Given the description of an element on the screen output the (x, y) to click on. 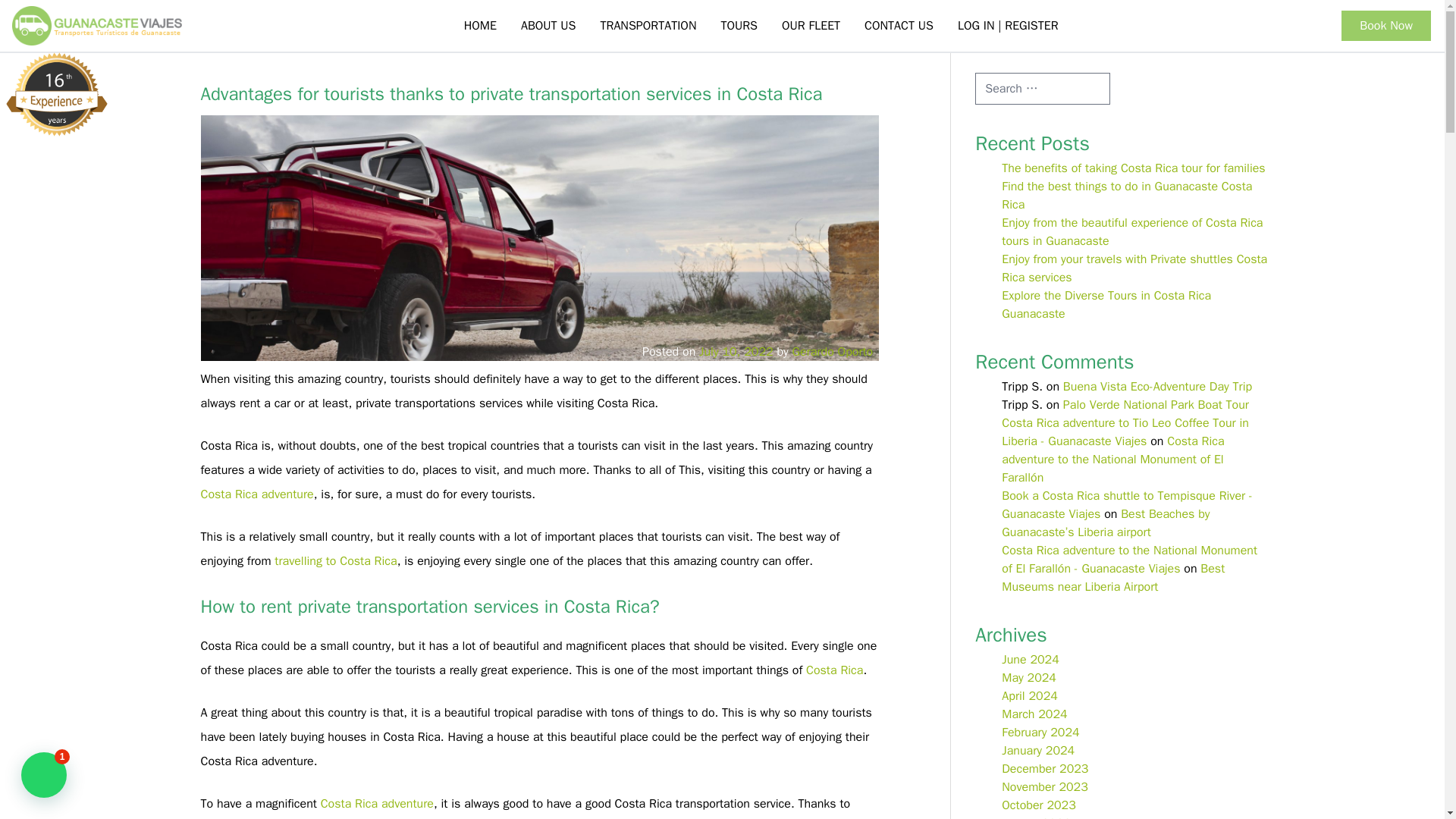
Gerardo Oporto (832, 351)
Costa Rica adventure (256, 494)
CONTACT US (897, 25)
OUR FLEET (810, 25)
Book Now (1385, 25)
Costa Rica adventure (376, 803)
TOURS (738, 25)
HOME (479, 25)
Costa Rica (834, 670)
TRANSPORTATION (648, 25)
travelling to Costa Rica (335, 560)
ABOUT US (548, 25)
July 10, 2022 (735, 351)
